Given the description of an element on the screen output the (x, y) to click on. 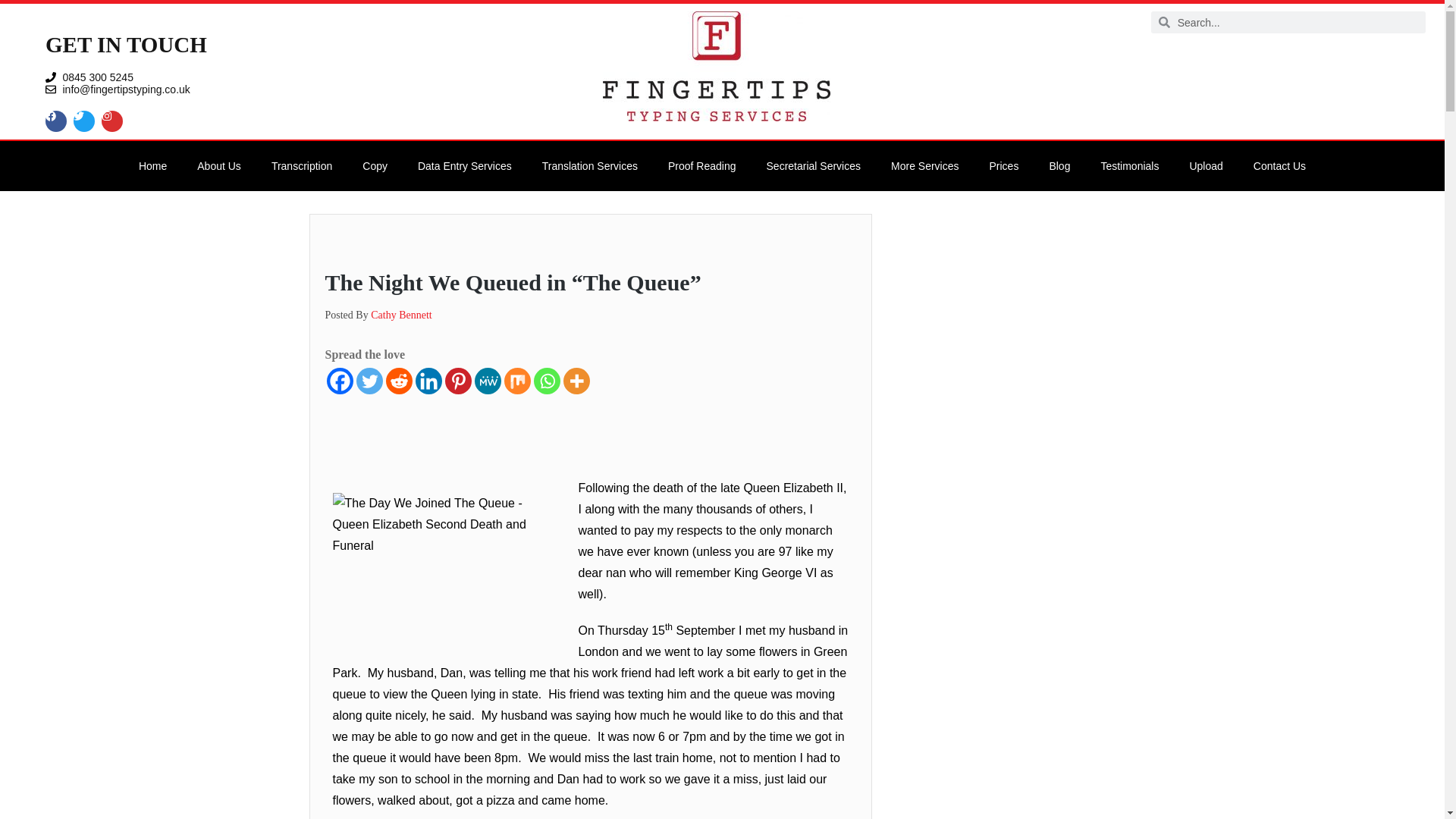
Mix (516, 380)
Reddit (398, 380)
Data Entry Services (465, 165)
Pinterest (457, 380)
Transcription (301, 165)
Home (152, 165)
Proof Reading (701, 165)
Translation Services (589, 165)
Facebook (339, 380)
Twitter (369, 380)
